Given the description of an element on the screen output the (x, y) to click on. 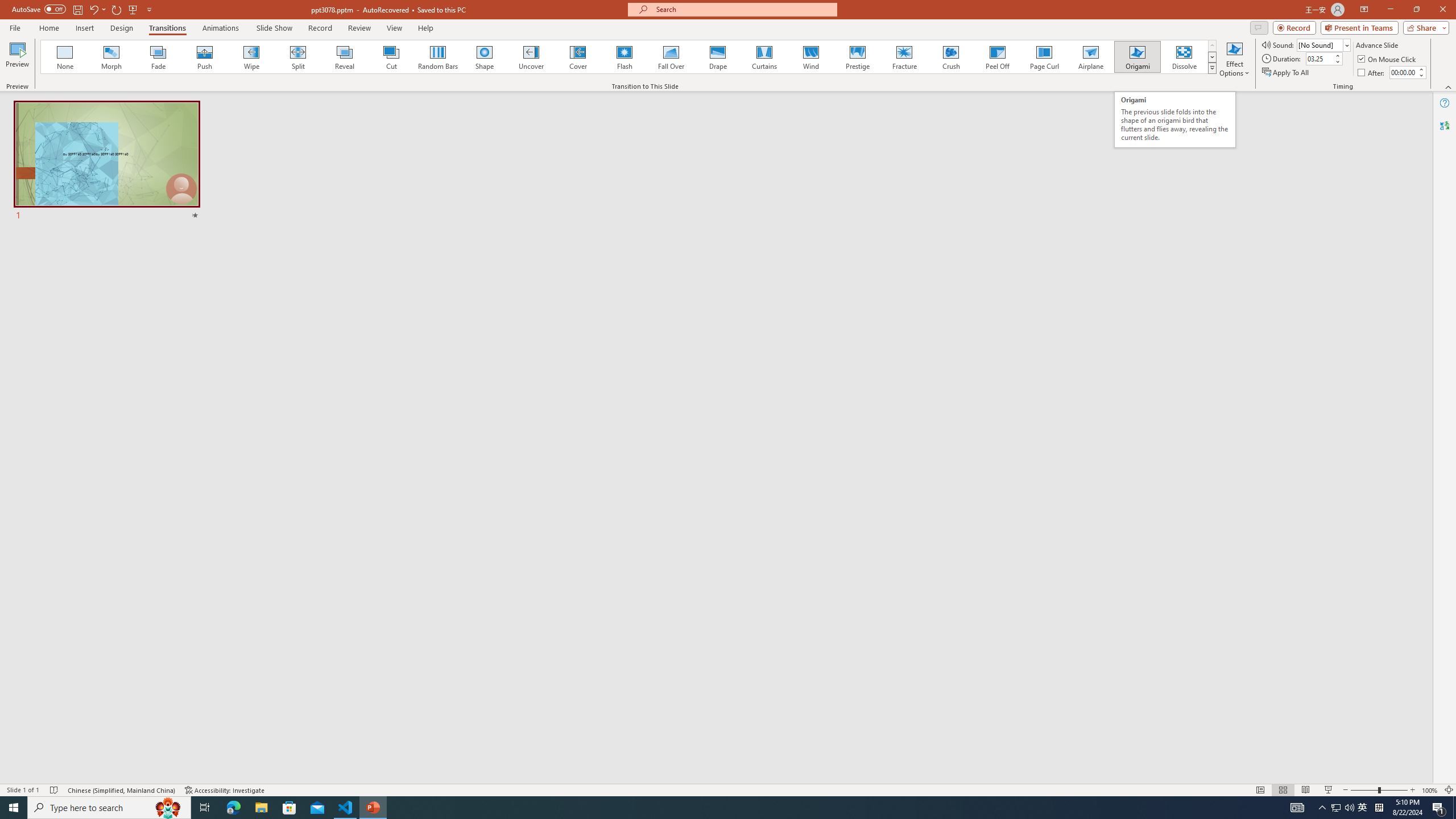
Fade (158, 56)
Prestige (857, 56)
Flash (624, 56)
Wind (810, 56)
Shape (484, 56)
Page Curl (1043, 56)
Reveal (344, 56)
Wipe (251, 56)
